Given the description of an element on the screen output the (x, y) to click on. 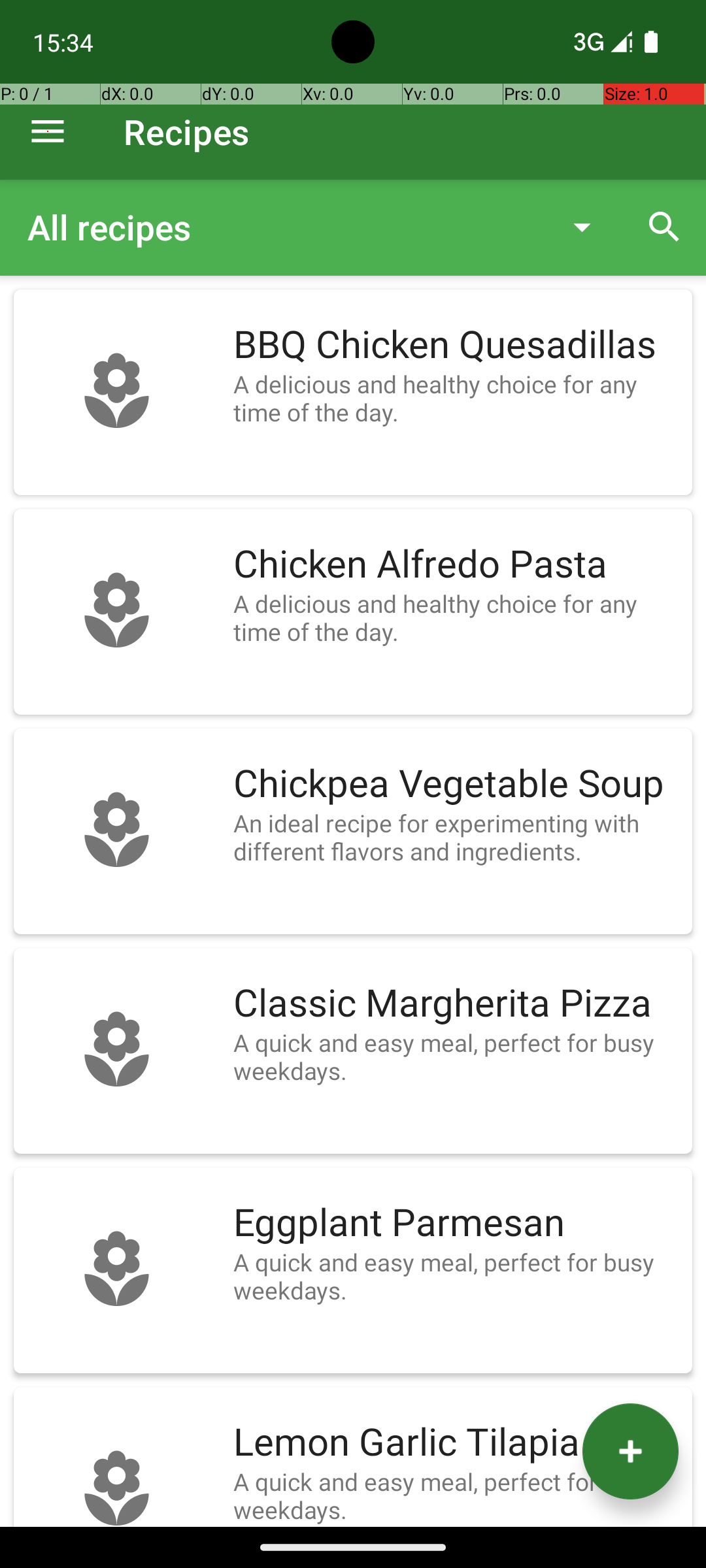
BBQ Chicken Quesadillas Element type: android.widget.TextView (455, 344)
Chickpea Vegetable Soup Element type: android.widget.TextView (455, 783)
Classic Margherita Pizza Element type: android.widget.TextView (455, 1003)
Eggplant Parmesan Element type: android.widget.TextView (455, 1222)
Lemon Garlic Tilapia Element type: android.widget.TextView (455, 1442)
